Given the description of an element on the screen output the (x, y) to click on. 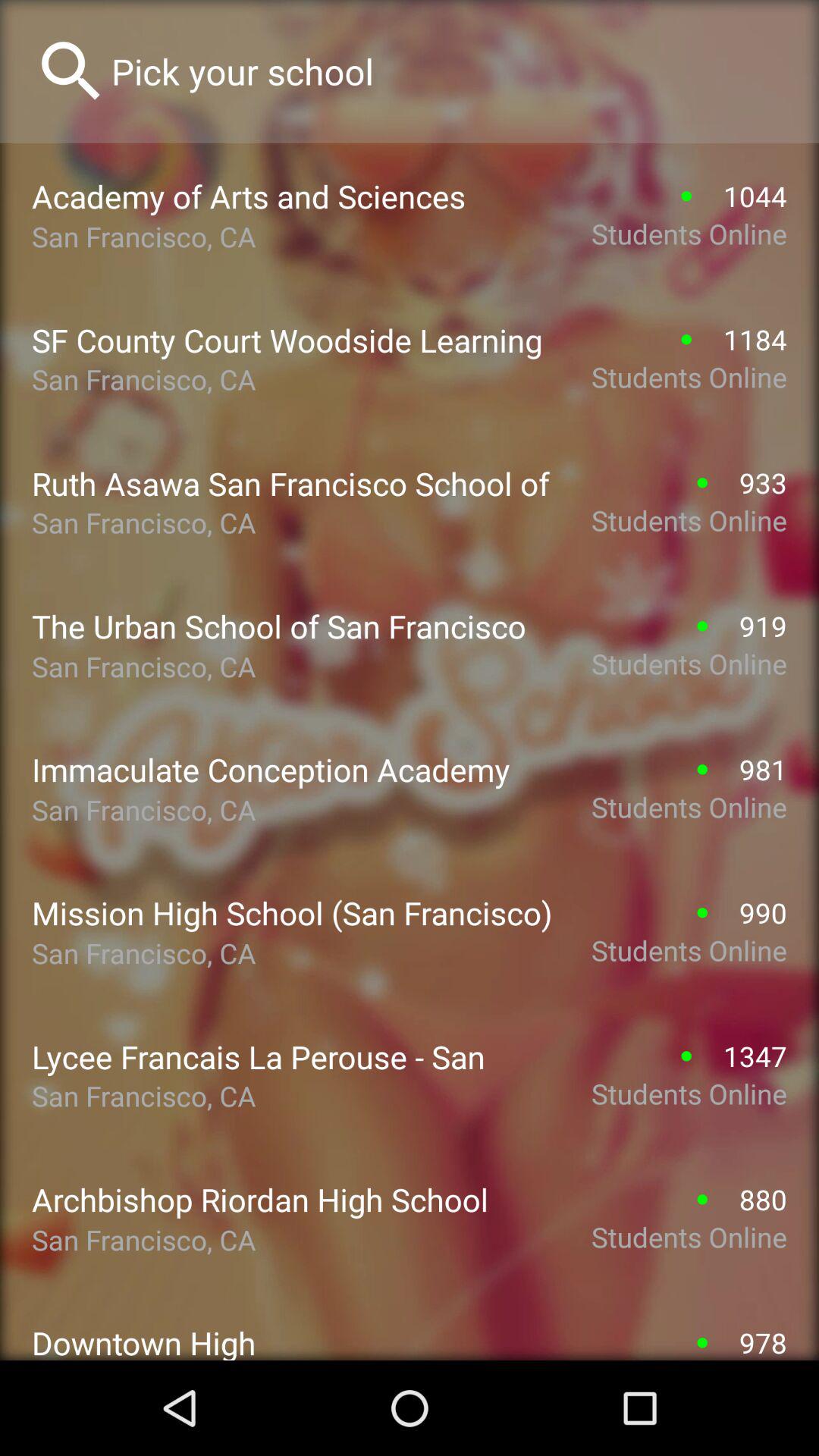
go to search option (449, 71)
